Given the description of an element on the screen output the (x, y) to click on. 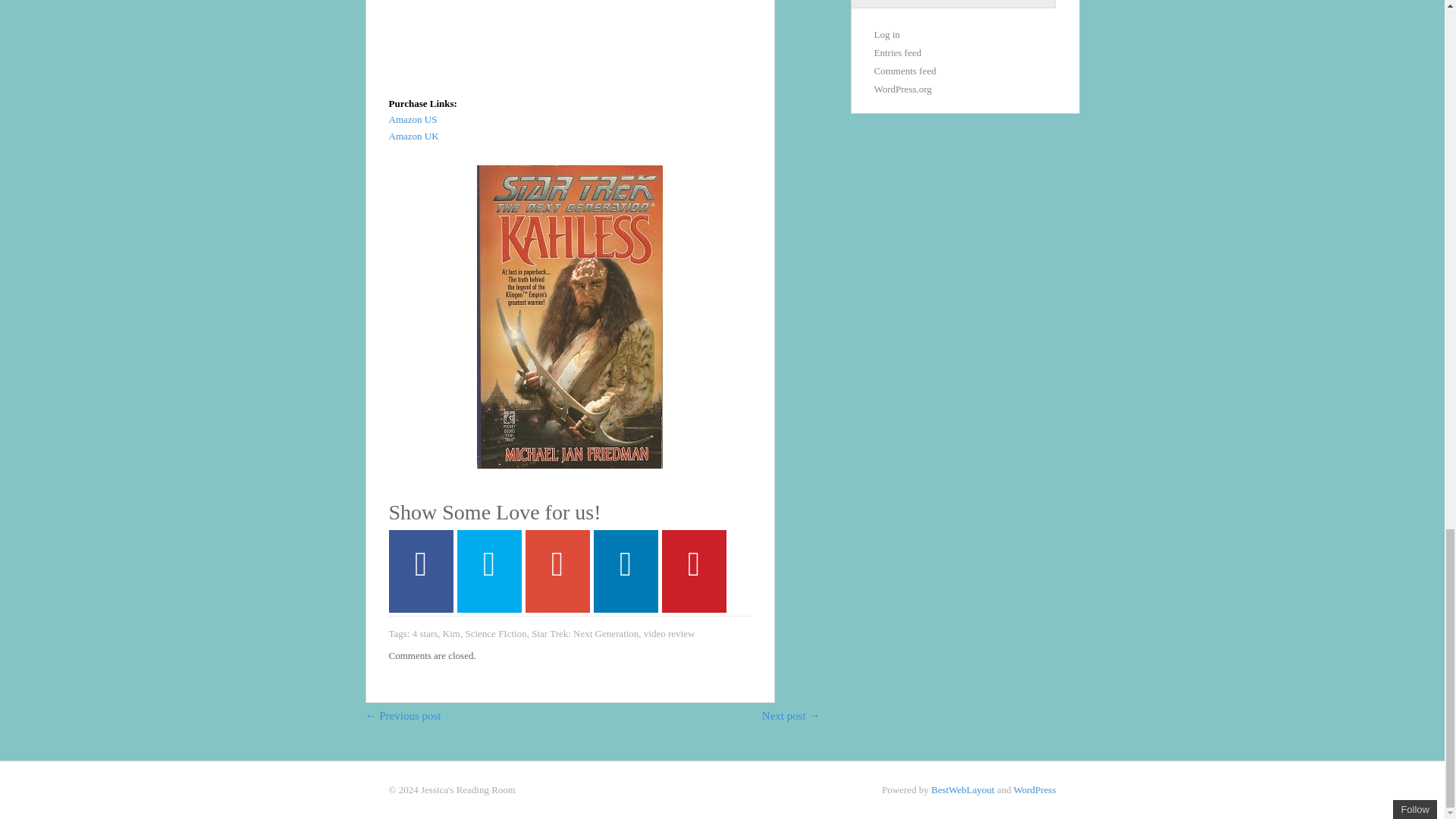
video review (669, 633)
Kim (451, 633)
Amazon US (412, 119)
Book Review: Kahless by Michael Jan Friedman (577, 36)
4 stars (425, 633)
Amazon UK (413, 135)
Star Trek: Next Generation (585, 633)
Science FIction (494, 633)
